Given the description of an element on the screen output the (x, y) to click on. 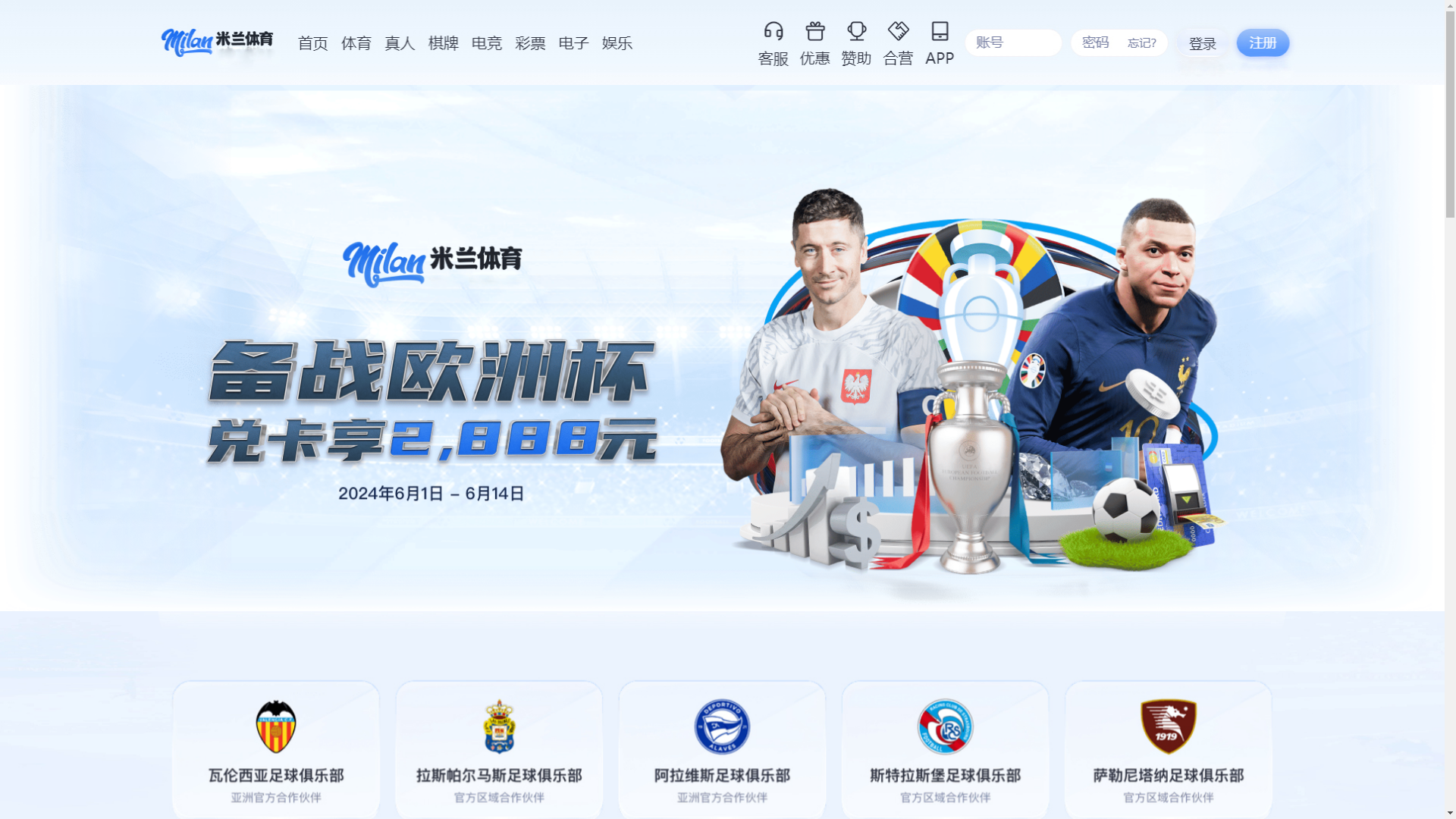
Solutions (352, 84)
Schedule Demo (1020, 30)
